Given the description of an element on the screen output the (x, y) to click on. 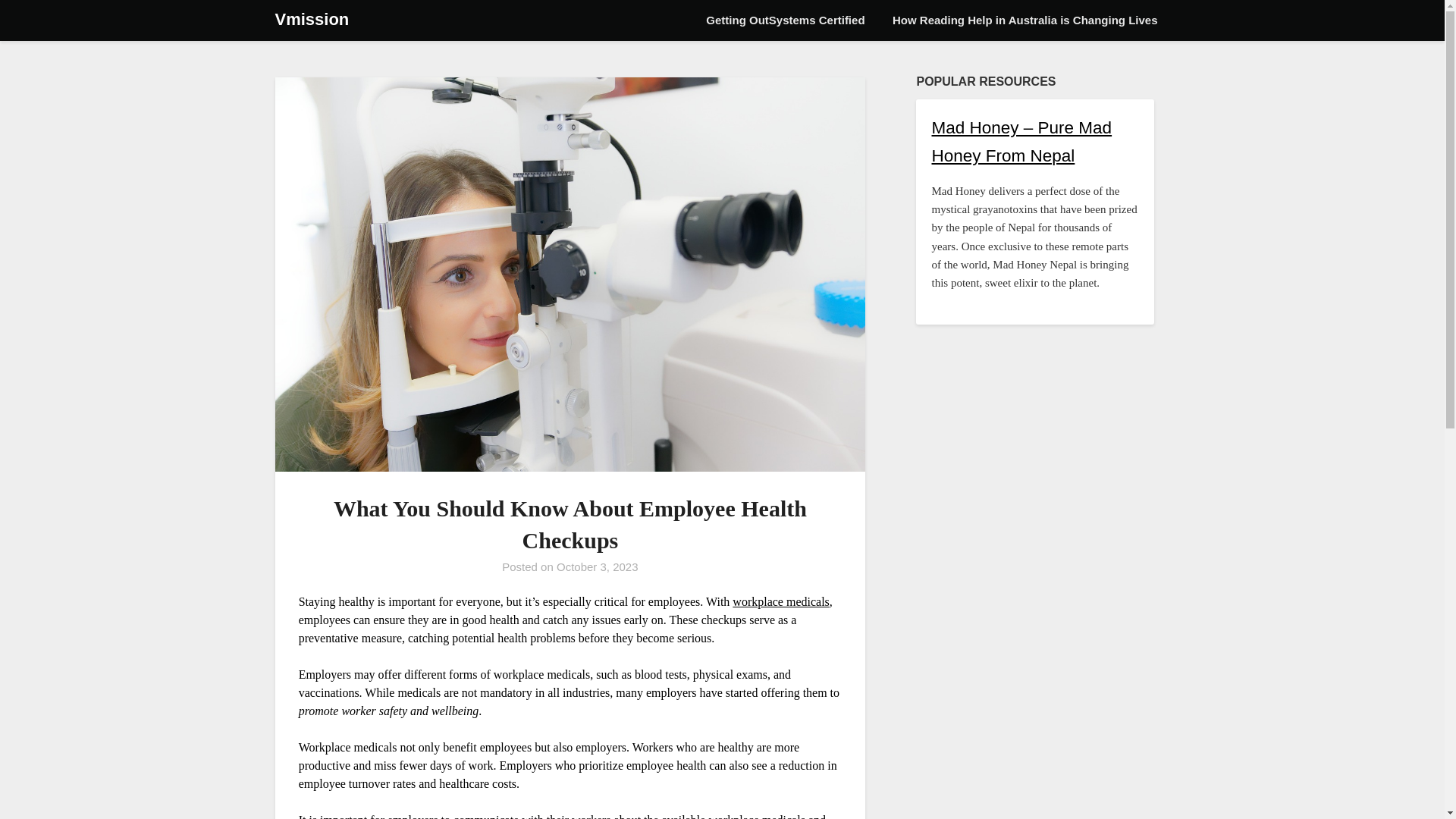
October 3, 2023 (597, 566)
How Reading Help in Australia is Changing Lives (1025, 20)
workplace medicals (780, 601)
Vmission (312, 19)
Getting OutSystems Certified (785, 20)
